Given the description of an element on the screen output the (x, y) to click on. 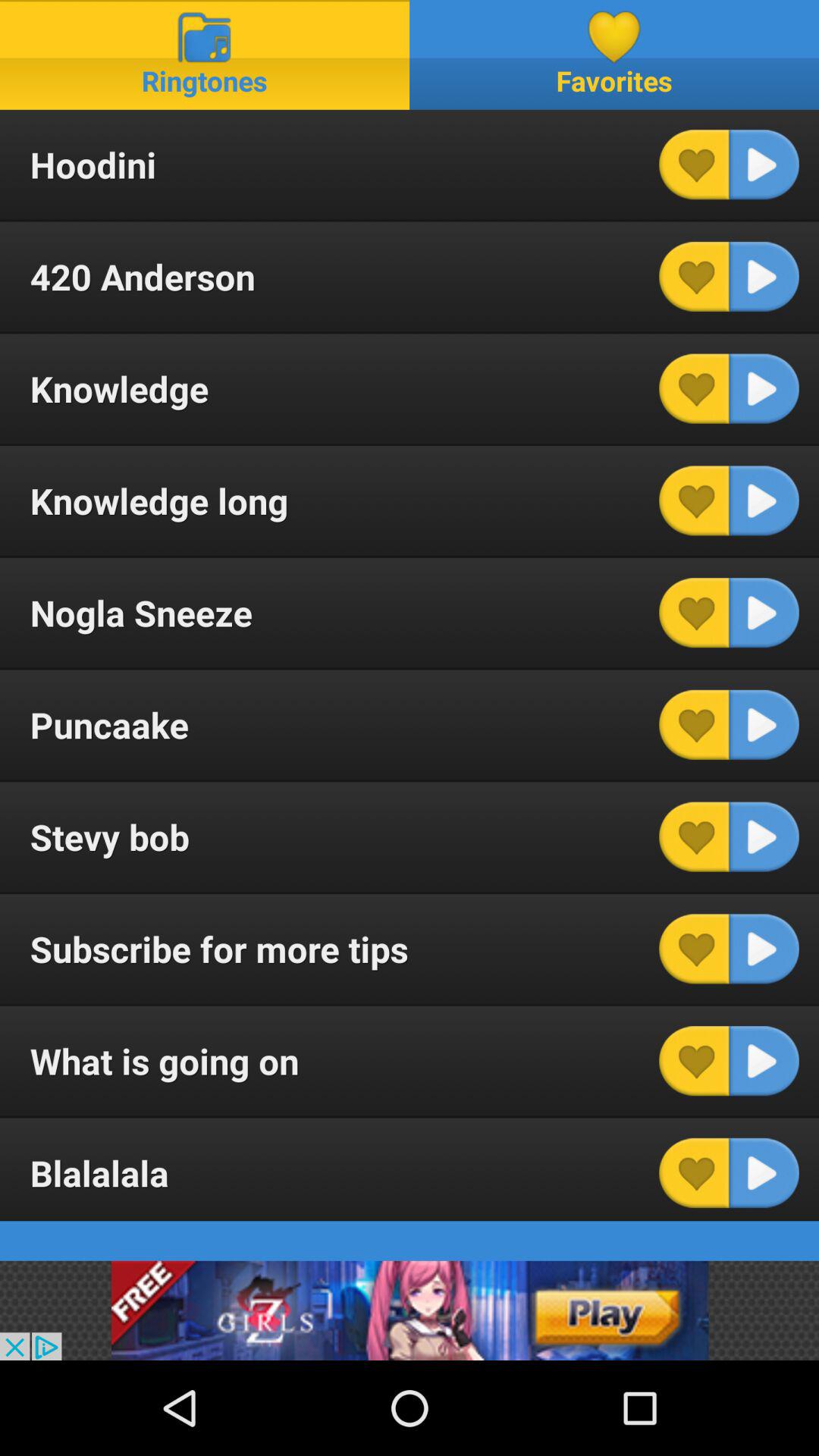
toggle play option (764, 836)
